Given the description of an element on the screen output the (x, y) to click on. 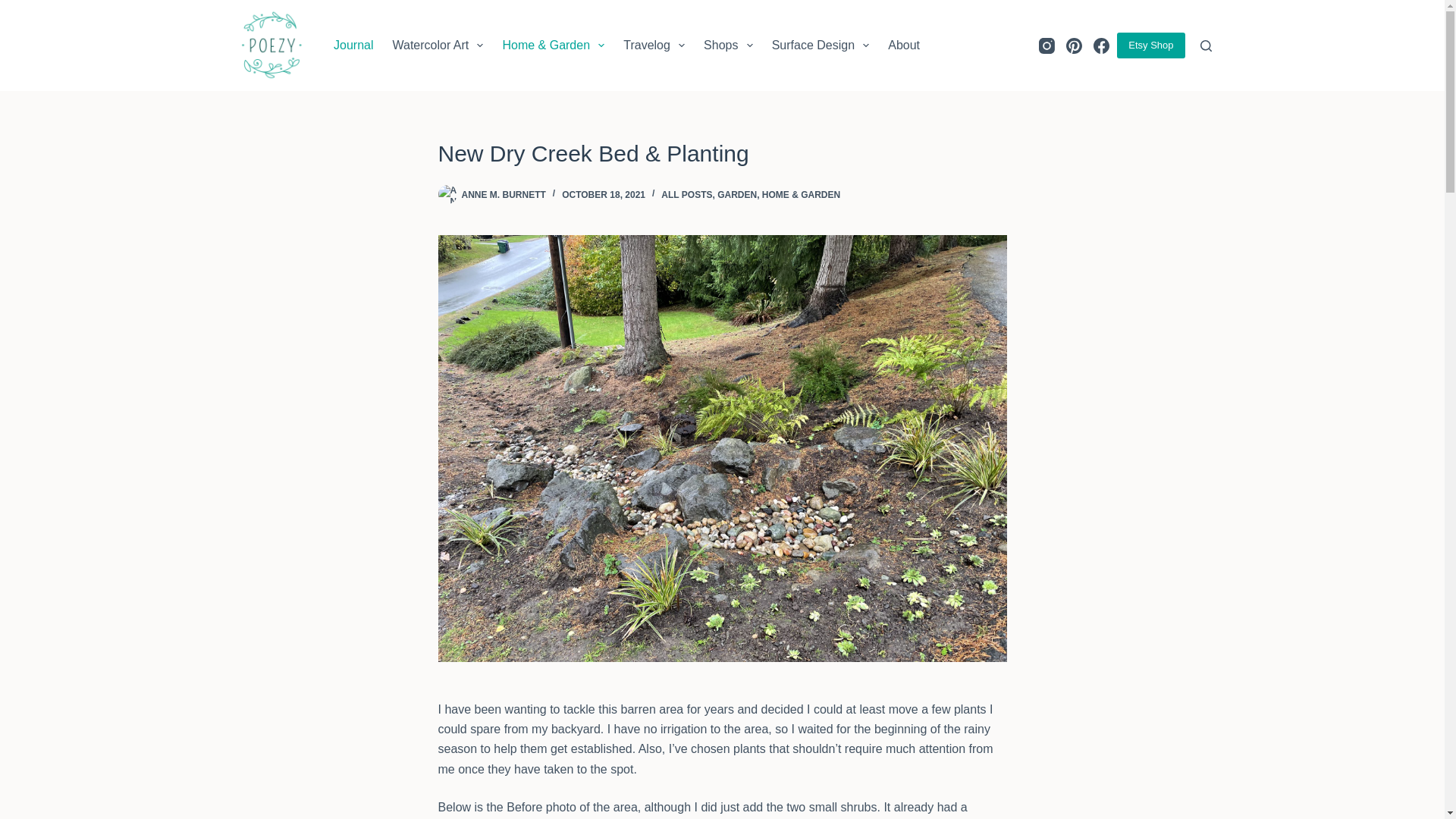
Posts by Anne M. Burnett (502, 194)
Skip to content (15, 7)
